Given the description of an element on the screen output the (x, y) to click on. 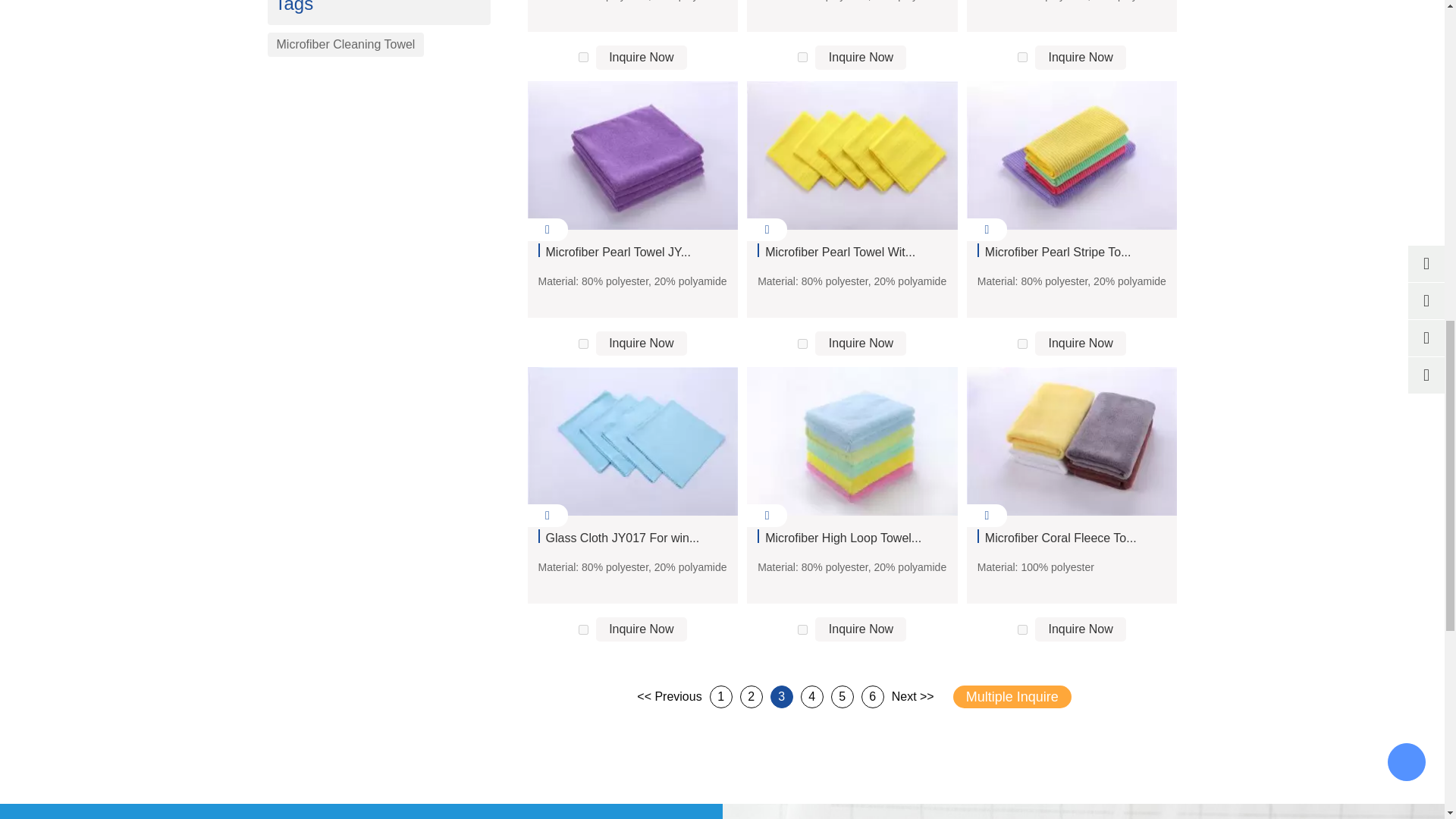
22 (1022, 57)
20 (583, 57)
Multiple Inquire (1012, 696)
27 (802, 629)
21 (802, 57)
23 (583, 343)
28 (1022, 629)
24 (802, 343)
26 (583, 629)
25 (1022, 343)
